Given the description of an element on the screen output the (x, y) to click on. 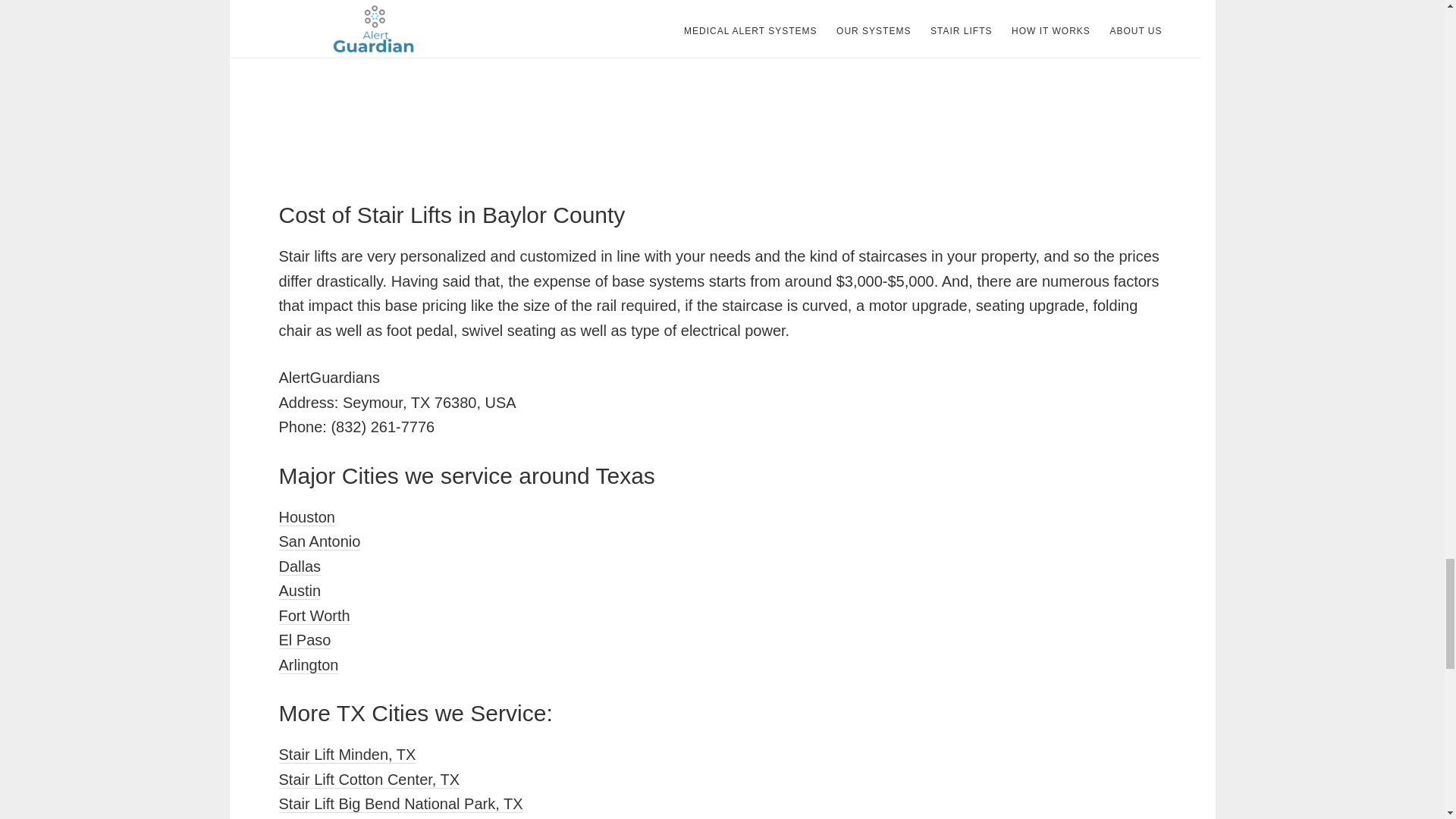
Stair Lift Big Bend National Park, TX (400, 804)
Fort Worth (314, 615)
Stair Lift Cotton Center, TX (369, 779)
Houston (307, 517)
Stair Lift Minden, TX (347, 754)
Dallas (300, 566)
Austin (300, 590)
San Antonio (320, 541)
